Given the description of an element on the screen output the (x, y) to click on. 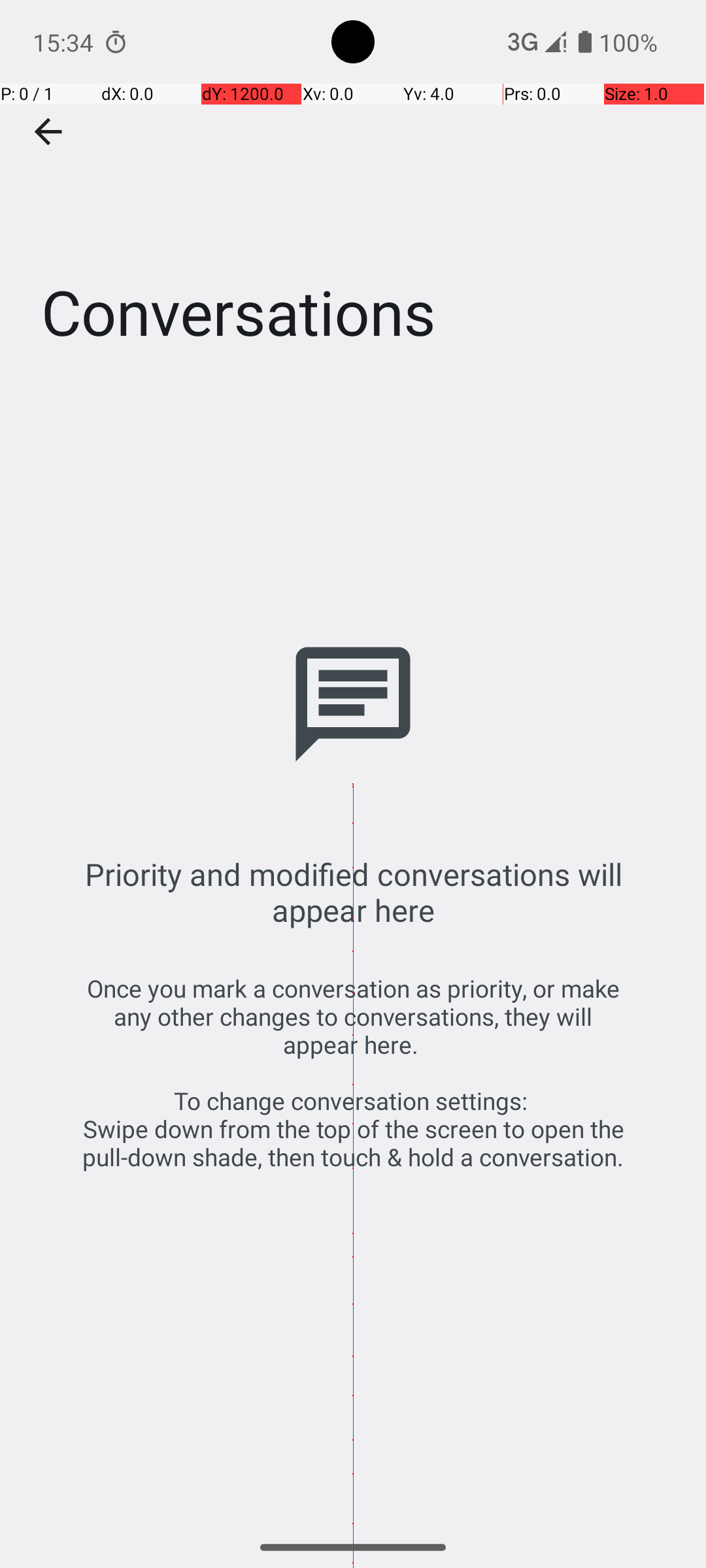
Priority and modified conversations will appear here Element type: android.widget.TextView (352, 891)
Once you mark a conversation as priority, or make any other changes to conversations, they will appear here. 

To change conversation settings: 
Swipe down from the top of the screen to open the pull-down shade, then touch & hold a conversation. Element type: android.widget.TextView (352, 1072)
